Given the description of an element on the screen output the (x, y) to click on. 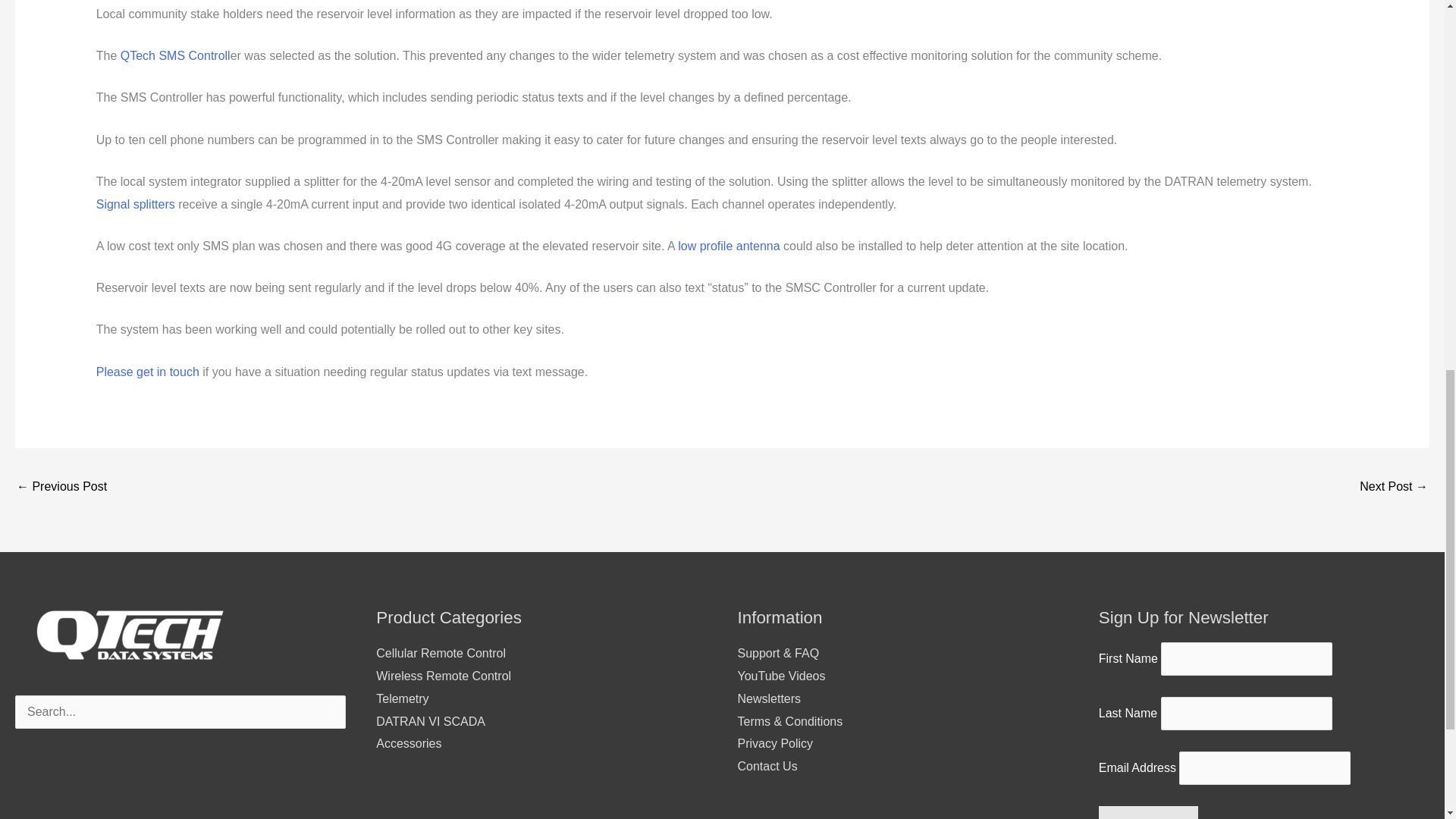
Controller to Controller Texts (61, 488)
Farm Backing Gate Control (1393, 488)
Subscribe (1148, 812)
